Given the description of an element on the screen output the (x, y) to click on. 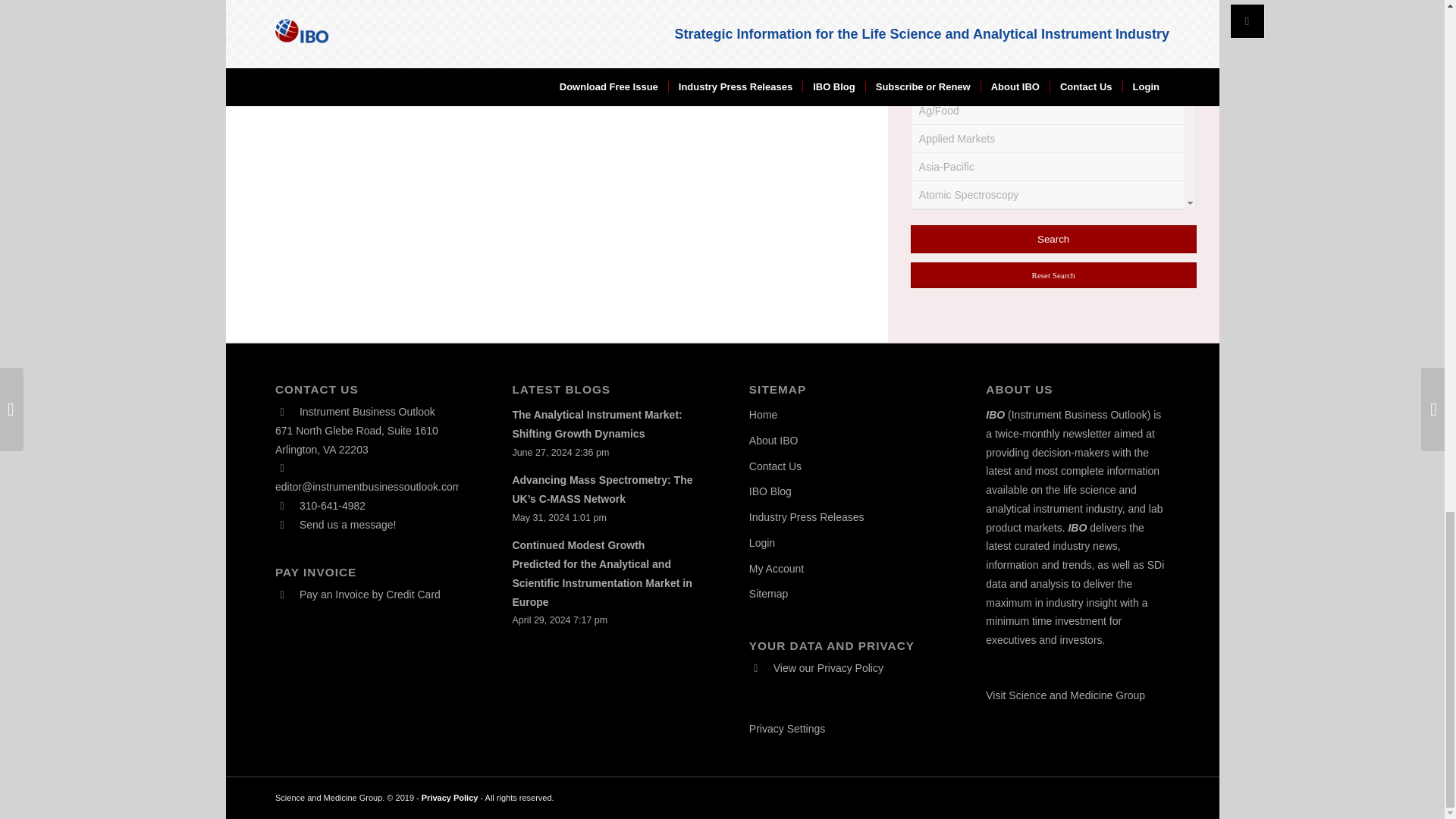
general-laboratory-productsconsumableslife-sciencegene-based (929, 322)
general-laboratory-products (938, 126)
chromatography-and-mass-spectrometryroutine-ms (929, 29)
general-laboratory-productsconsumables (929, 157)
The Analytical Instrument Market: Shifting Growth Dynamics (596, 423)
